Given the description of an element on the screen output the (x, y) to click on. 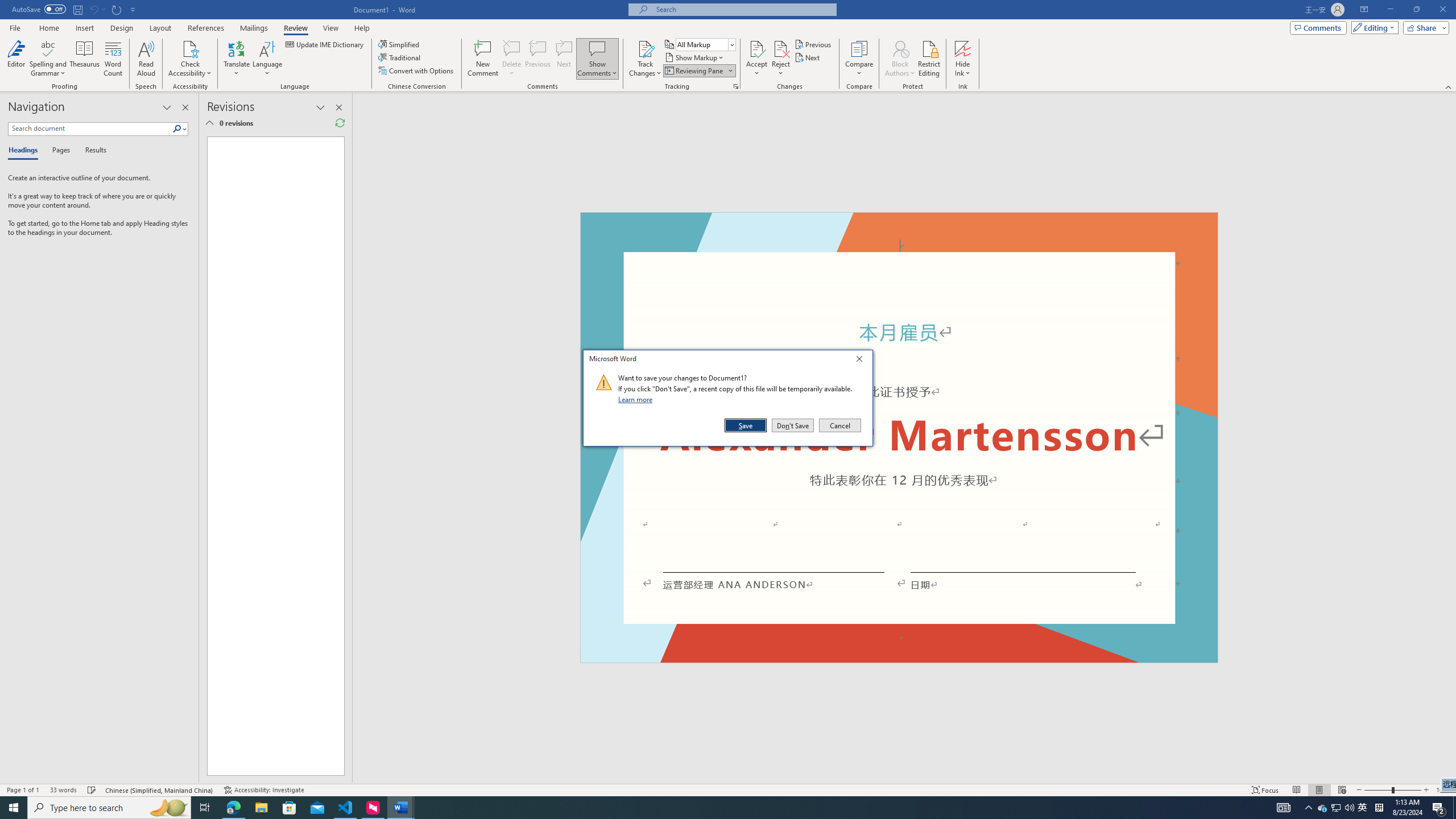
Read Aloud (145, 58)
Task Pane Options (167, 107)
Show Comments (597, 48)
Accessibility Checker Accessibility: Investigate (263, 790)
Change Tracking Options... (735, 85)
Design (122, 28)
Results (91, 150)
Convert with Options... (417, 69)
References (205, 28)
Thesaurus... (1335, 807)
Show desktop (84, 58)
Reject and Move to Next (1454, 807)
